Given the description of an element on the screen output the (x, y) to click on. 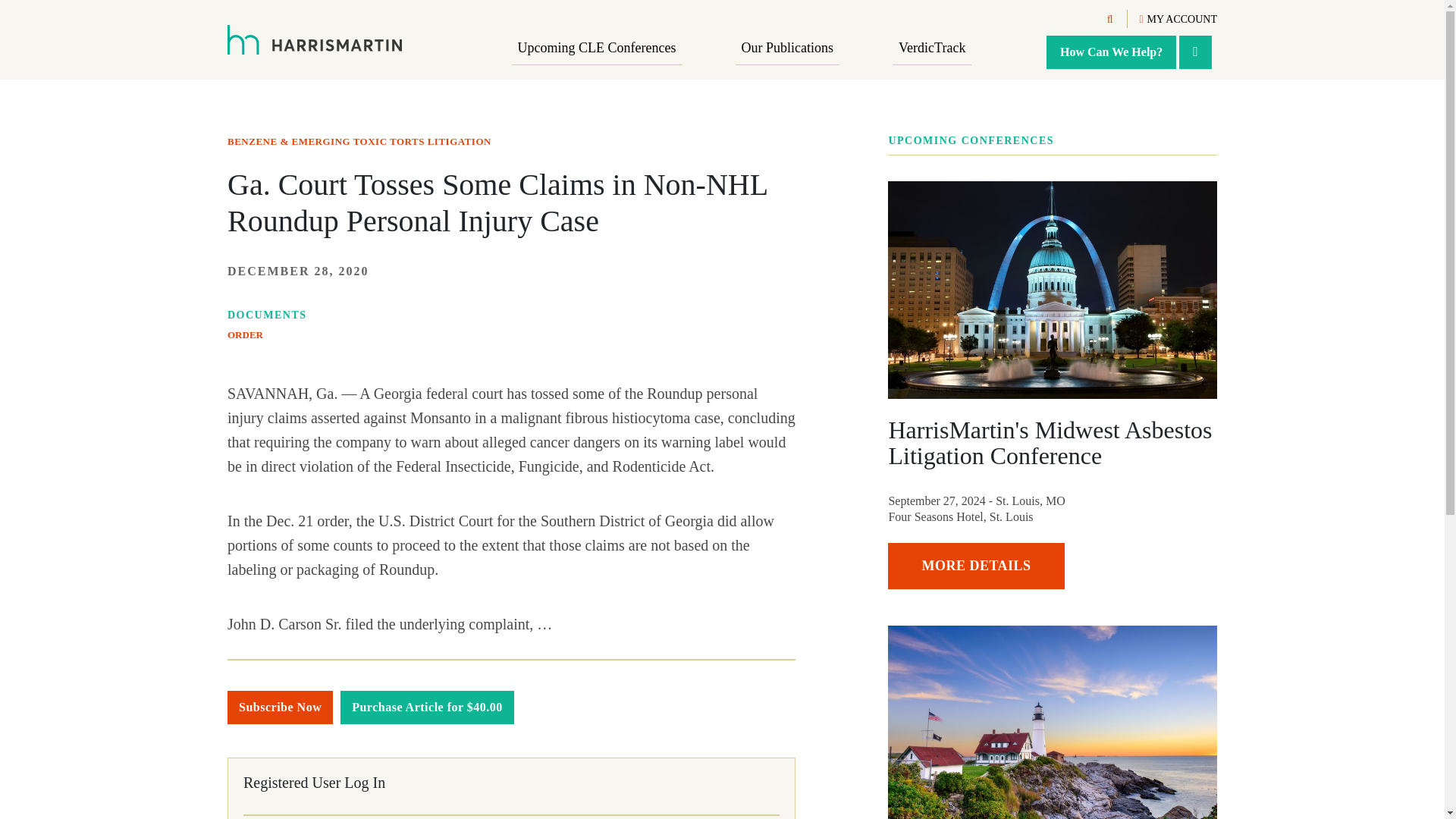
Subscribe Now (280, 707)
Upcoming CLE Conferences (597, 48)
MORE DETAILS (976, 565)
How Can We Help? (1111, 52)
MY ACCOUNT (1177, 19)
Our Publications (787, 48)
VerdicTrack (931, 48)
